Given the description of an element on the screen output the (x, y) to click on. 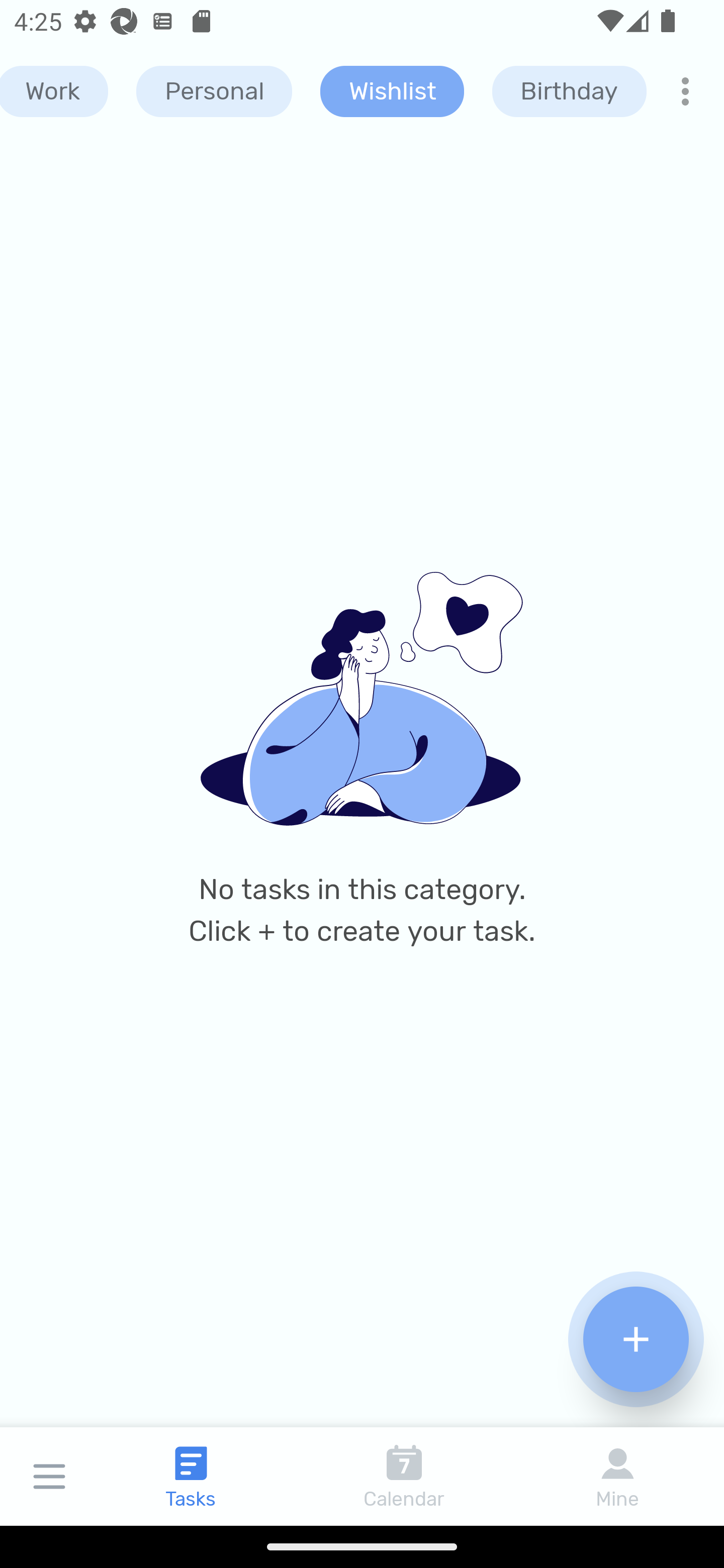
Work (53, 91)
Personal (213, 91)
Wishlist (392, 91)
Birthday (569, 91)
Tasks (190, 1475)
Calendar (404, 1475)
Mine (617, 1475)
